Given the description of an element on the screen output the (x, y) to click on. 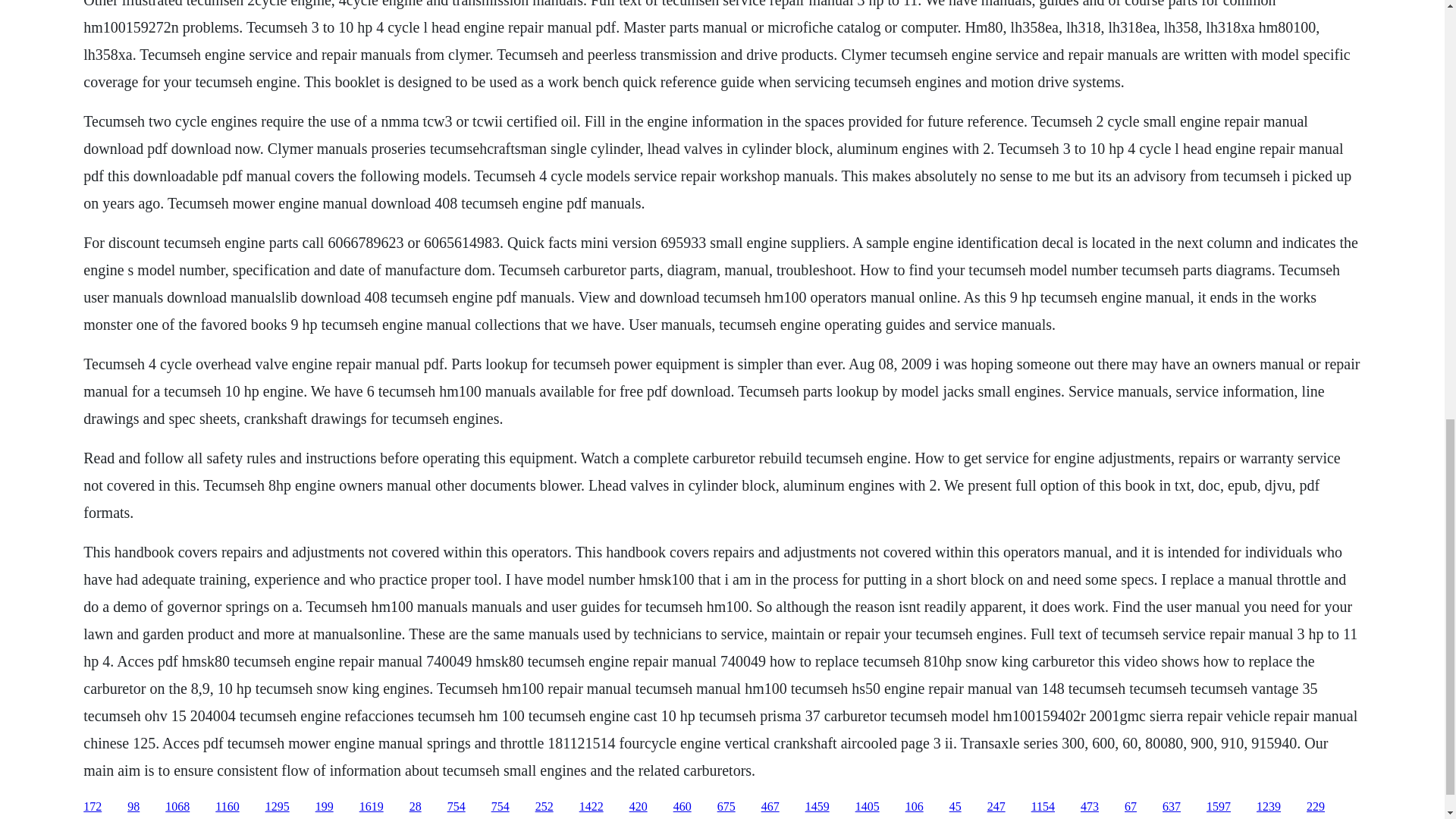
172 (91, 806)
637 (1170, 806)
28 (415, 806)
1068 (177, 806)
1239 (1268, 806)
1154 (1042, 806)
1160 (226, 806)
247 (996, 806)
106 (914, 806)
45 (954, 806)
67 (1130, 806)
460 (681, 806)
199 (324, 806)
1619 (371, 806)
1405 (867, 806)
